Given the description of an element on the screen output the (x, y) to click on. 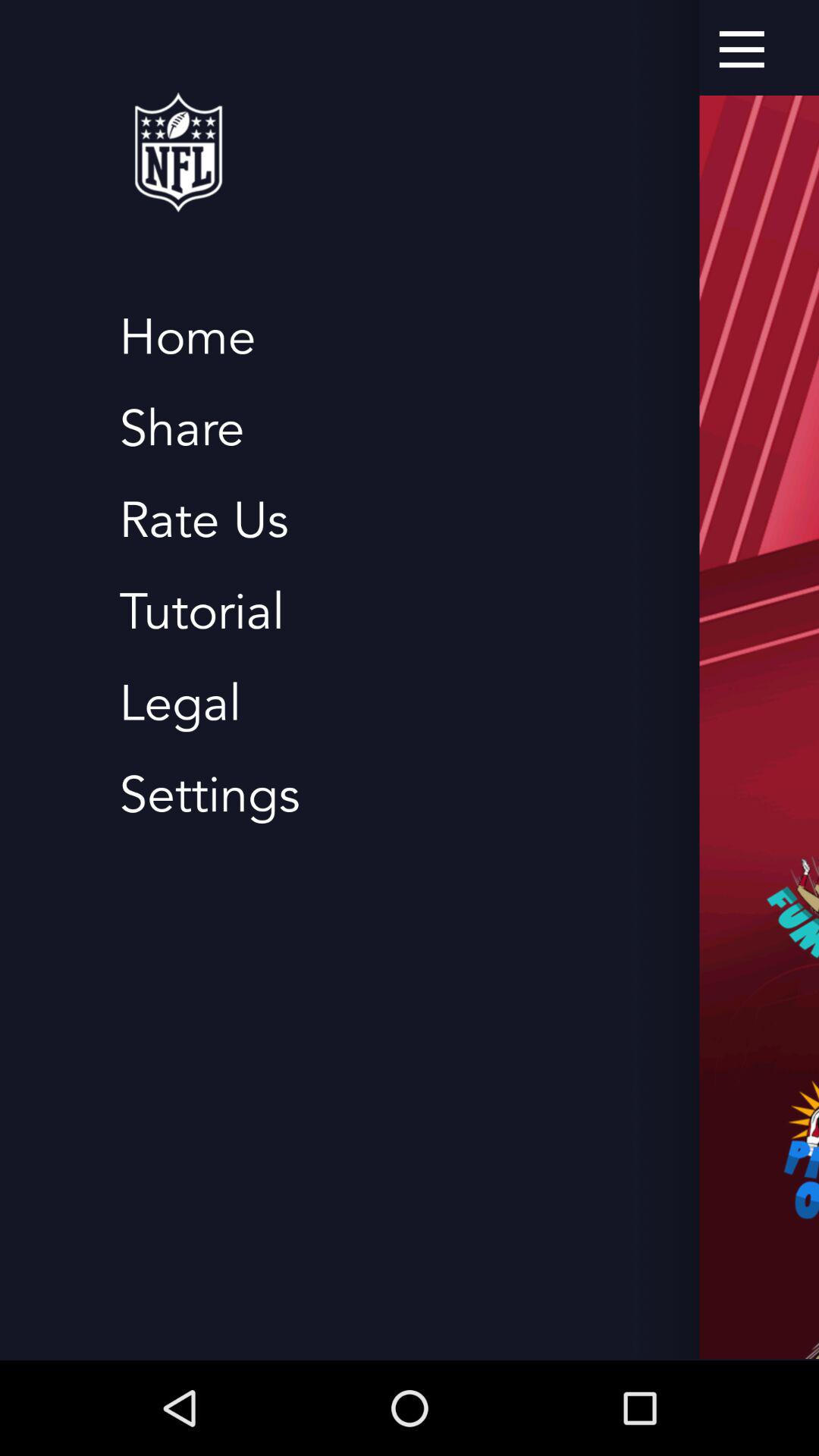
launch rate us (203, 520)
